Given the description of an element on the screen output the (x, y) to click on. 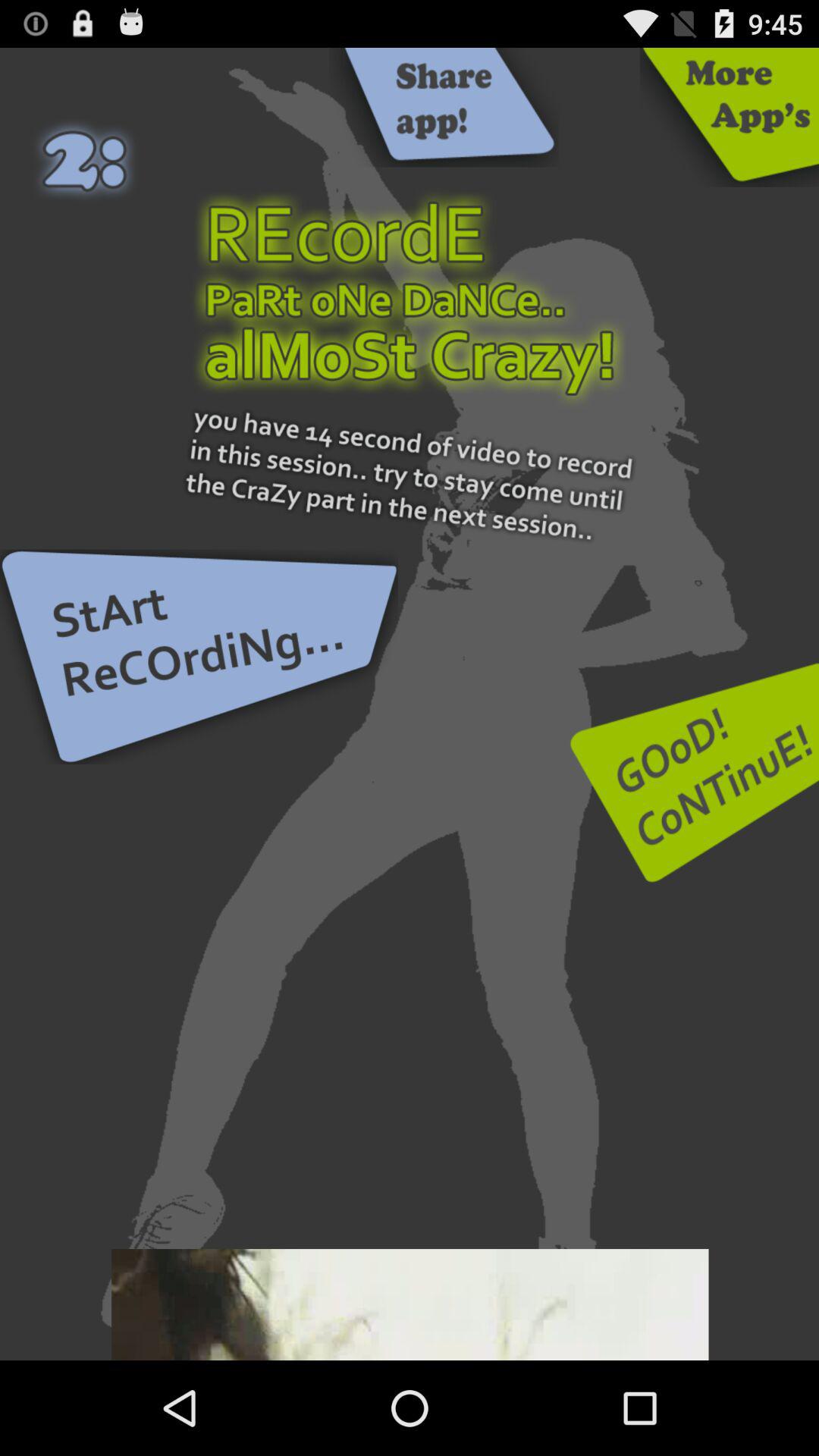
go forward (694, 772)
